Given the description of an element on the screen output the (x, y) to click on. 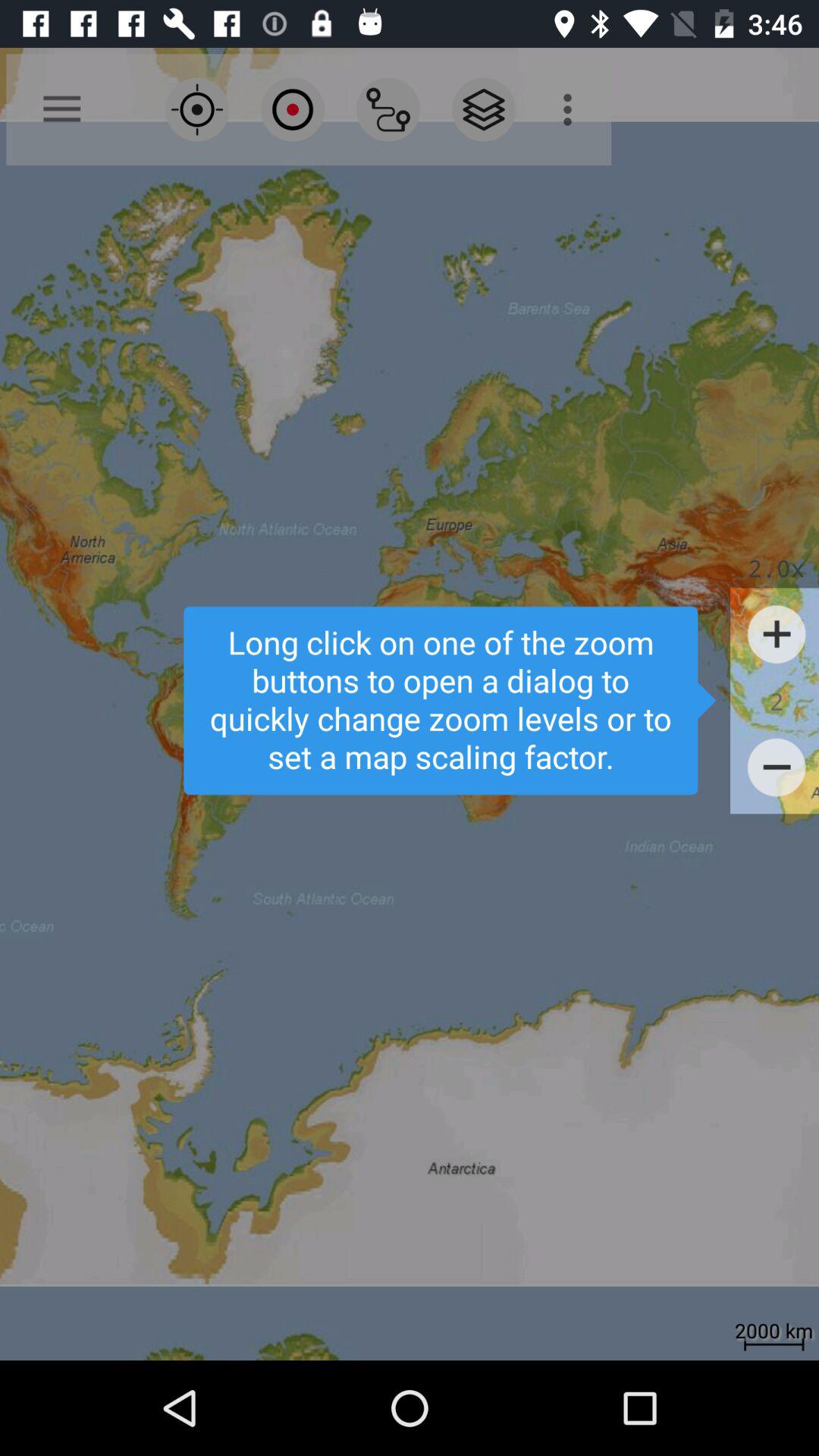
open the item below 2.0x (776, 634)
